Given the description of an element on the screen output the (x, y) to click on. 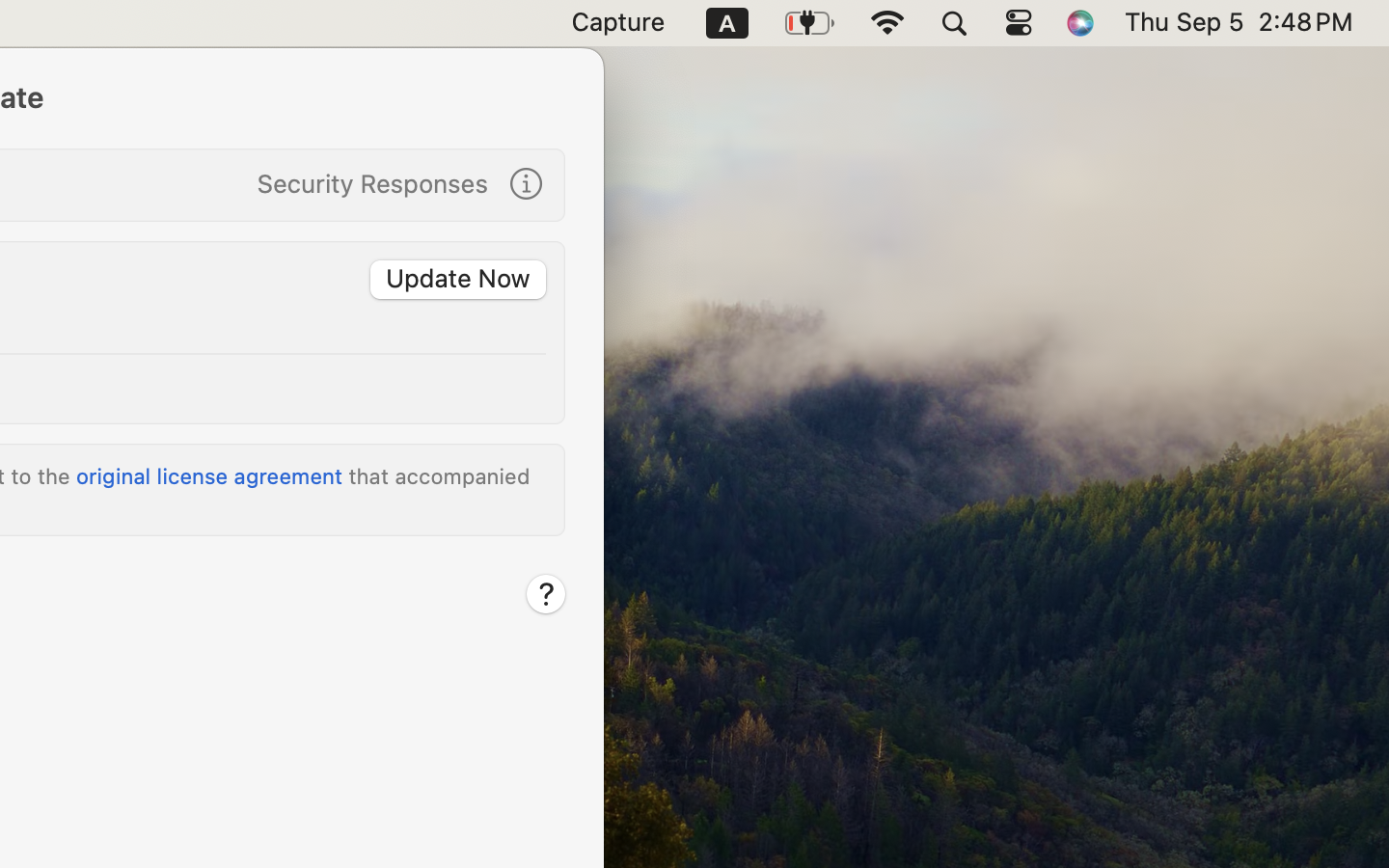
Security Responses Element type: AXStaticText (371, 182)
